Given the description of an element on the screen output the (x, y) to click on. 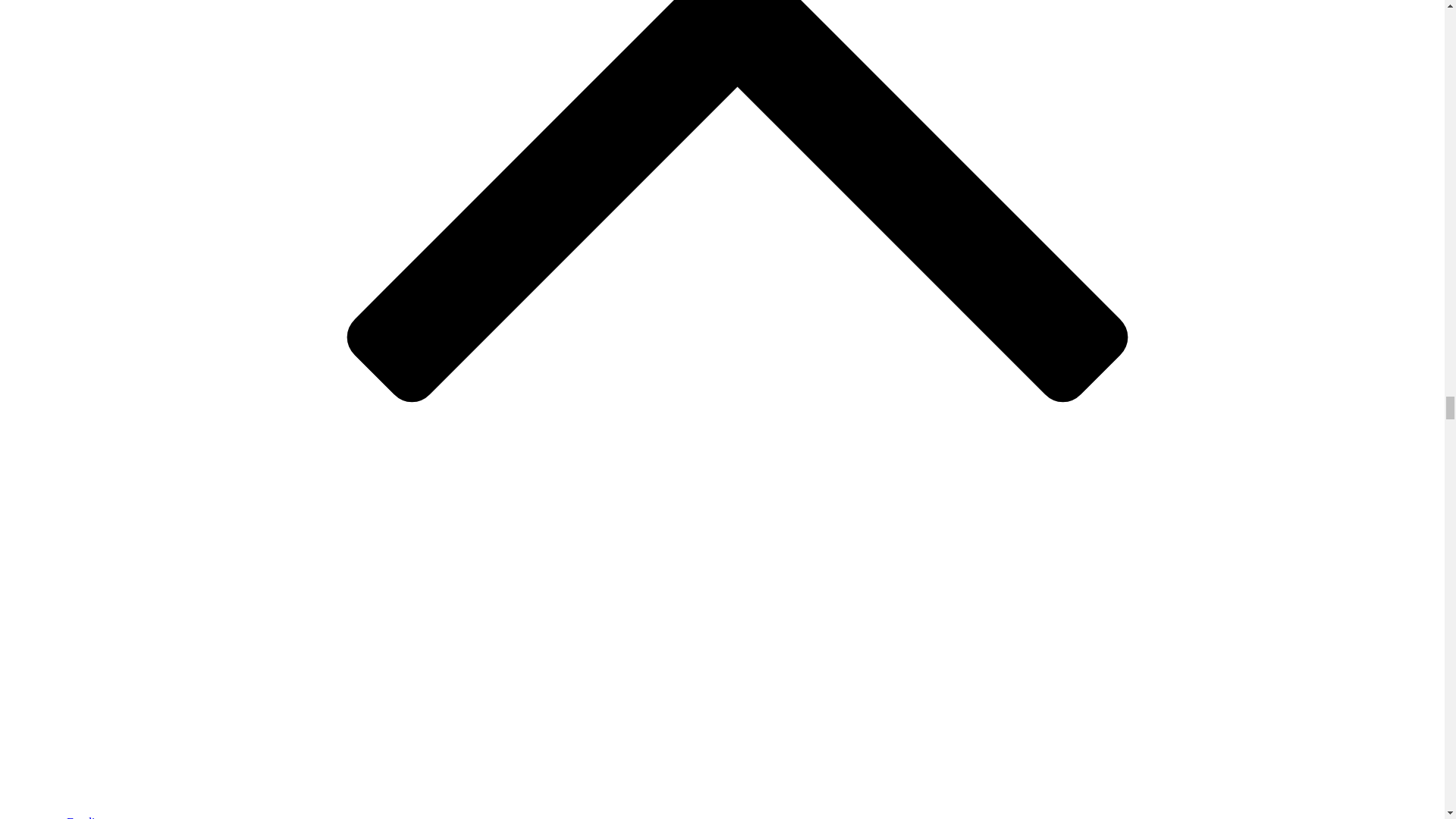
Funding (86, 817)
